Given the description of an element on the screen output the (x, y) to click on. 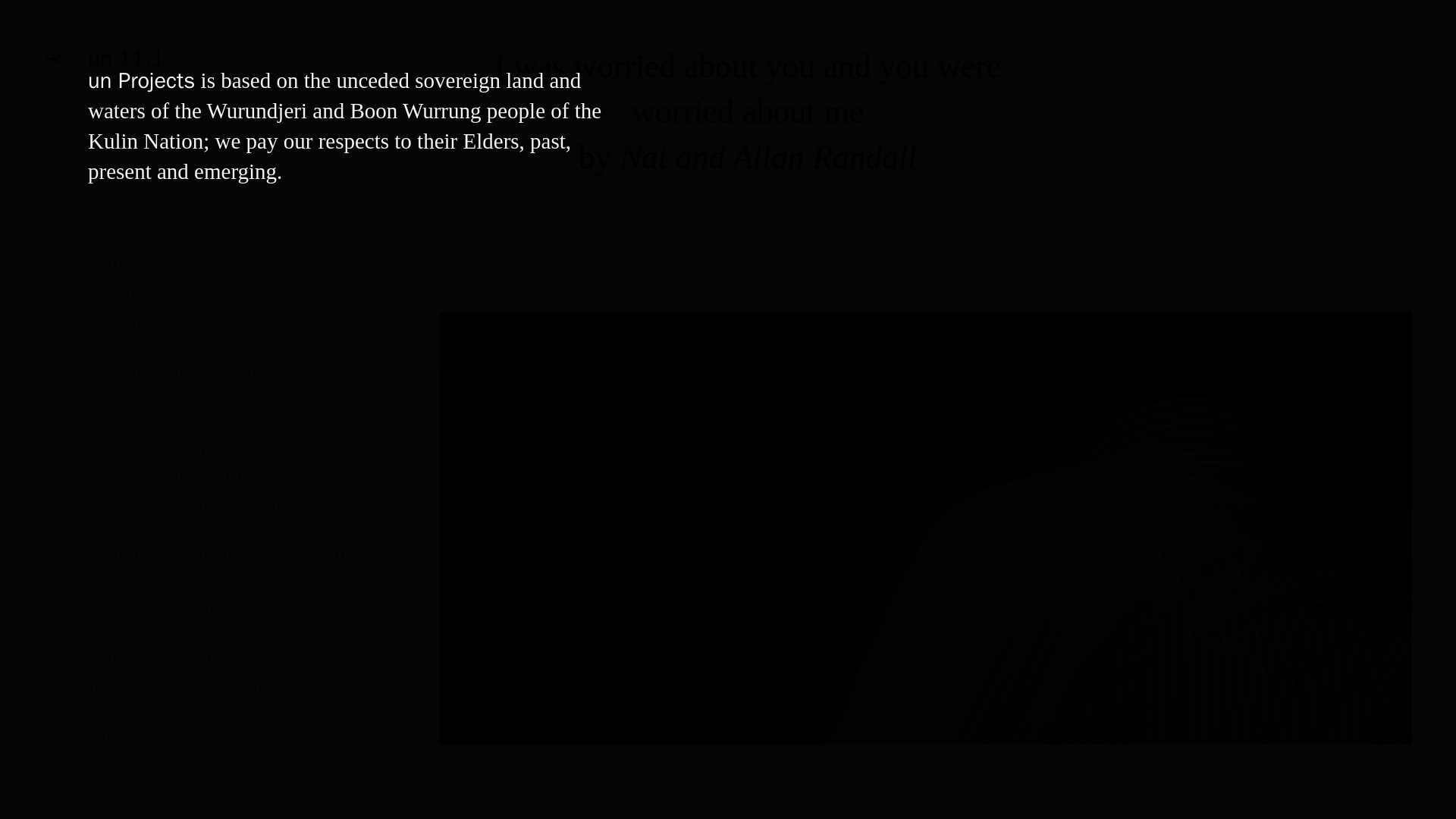
Nat and Allan Randall (197, 683)
Posts by Nat and Allan Randall (197, 303)
